Given the description of an element on the screen output the (x, y) to click on. 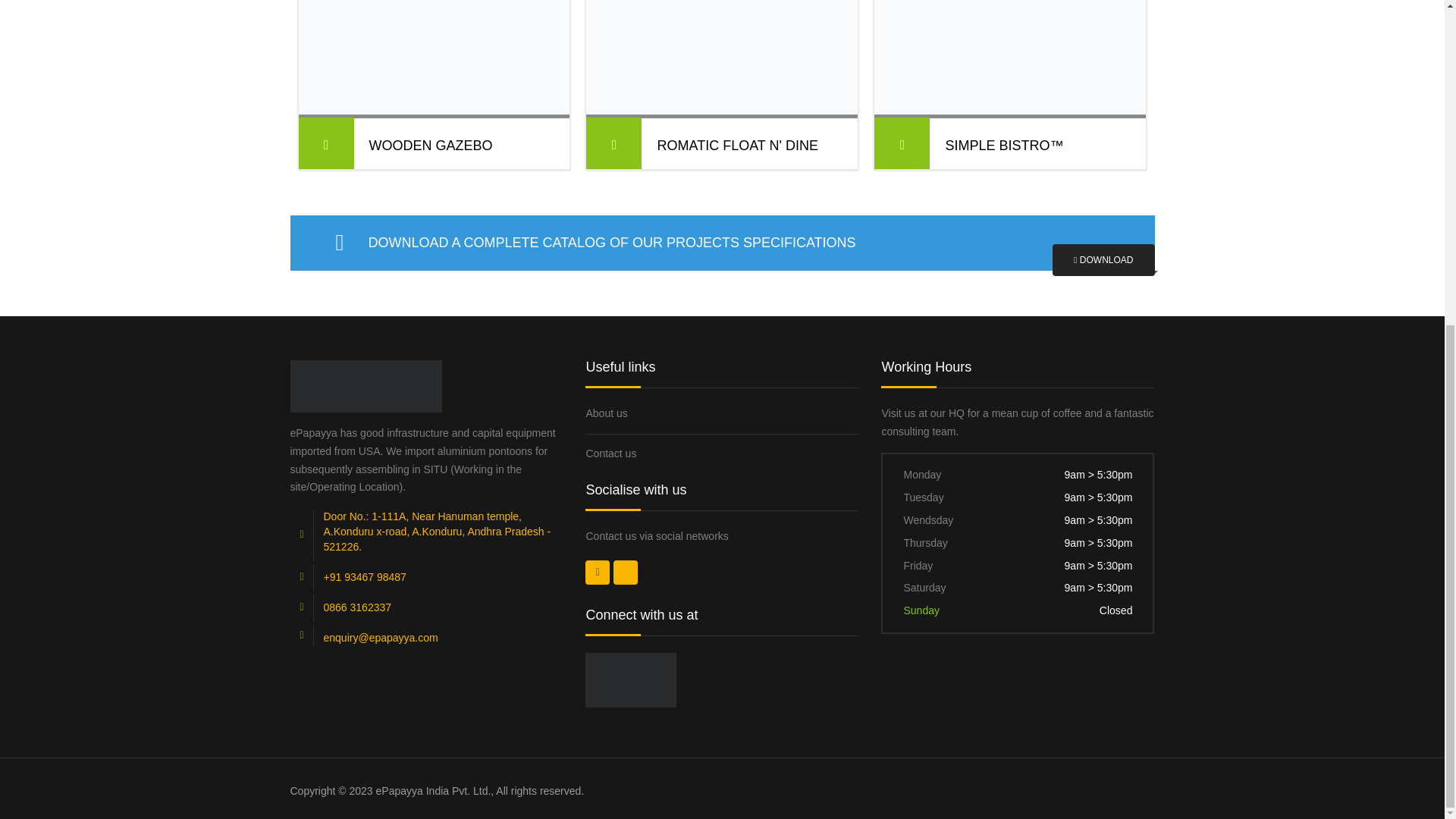
ROMATIC FLOAT N' DINE (736, 145)
WOODEN GAZEBO (430, 145)
